Given the description of an element on the screen output the (x, y) to click on. 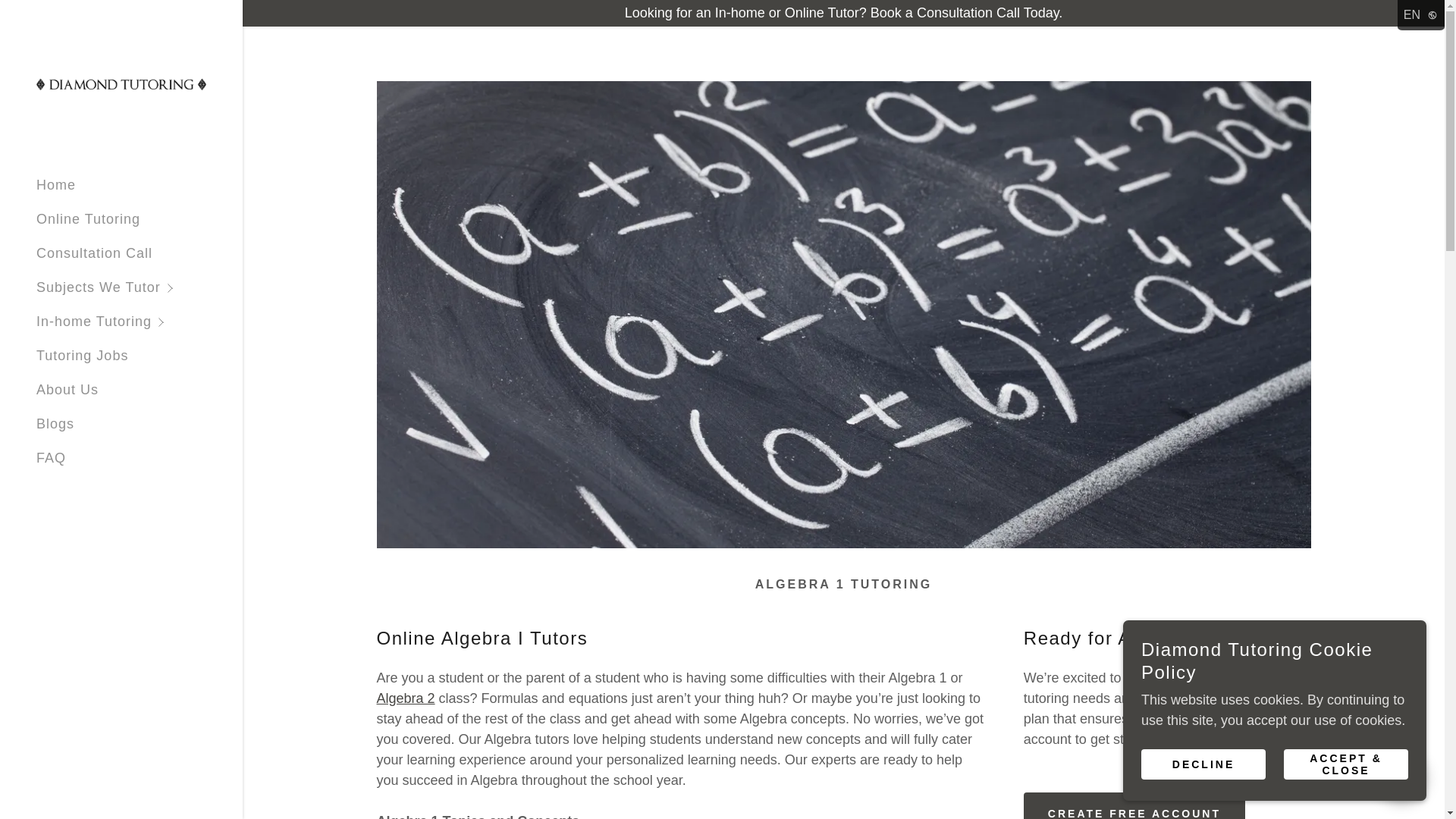
Blogs (55, 423)
In-home Tutoring (139, 321)
FAQ (50, 458)
Home (55, 184)
Online Tutoring (87, 218)
About Us (67, 389)
Consultation Call (94, 253)
Tutoring Jobs (82, 355)
Subjects We Tutor (139, 287)
